Given the description of an element on the screen output the (x, y) to click on. 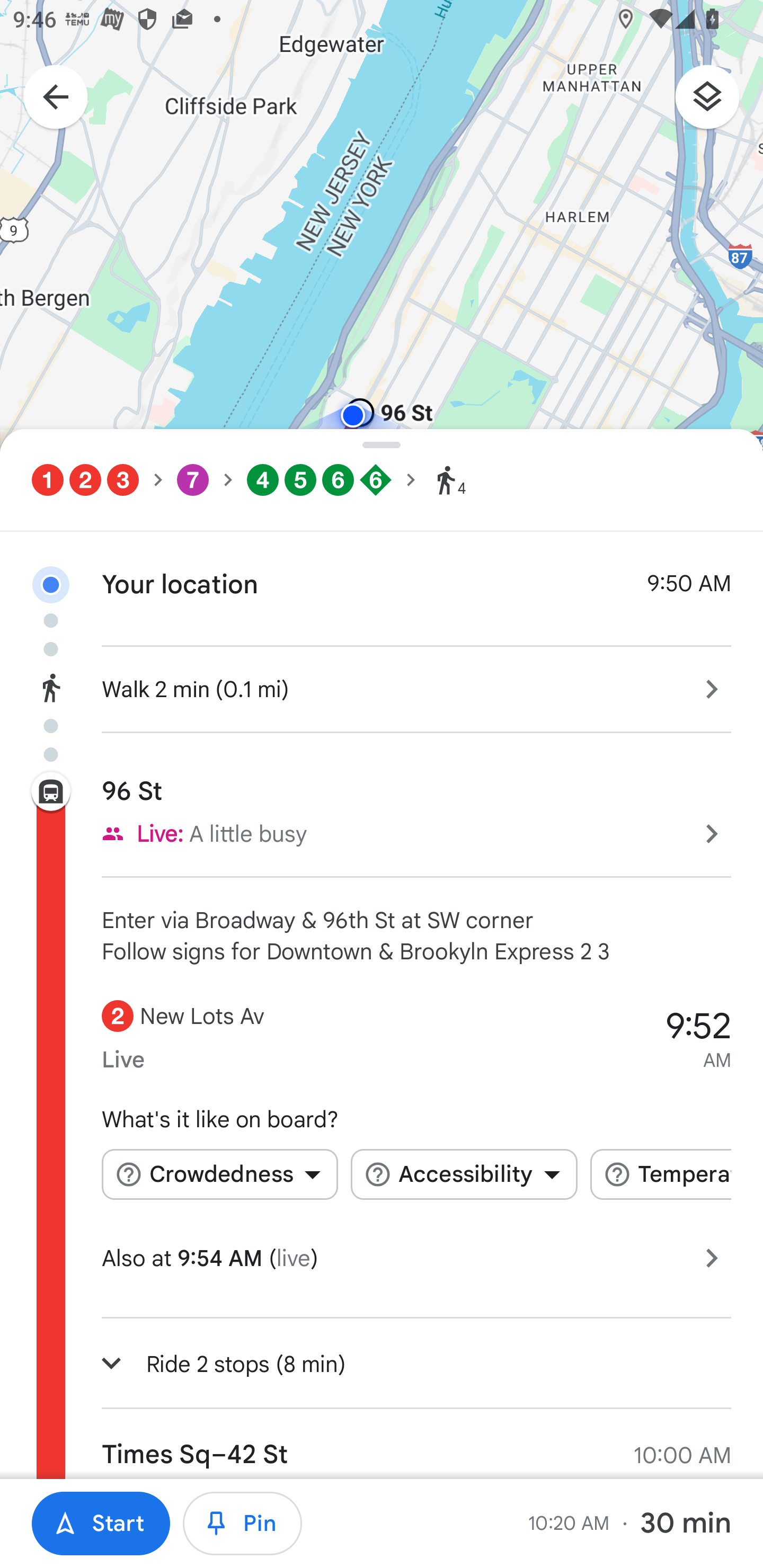
Back (46, 98)
Layers (716, 103)
Your location Your location 9:50 AM (381, 568)
Walk 2 min (0.1 mi) Zoom map (381, 686)
Crowdedness Crowdedness Crowdedness (219, 1174)
Accessibility Accessibility Accessibility (463, 1174)
Temperature Temperature Temperature (660, 1174)
Pin trip Pin Pin trip (242, 1522)
